Given the description of an element on the screen output the (x, y) to click on. 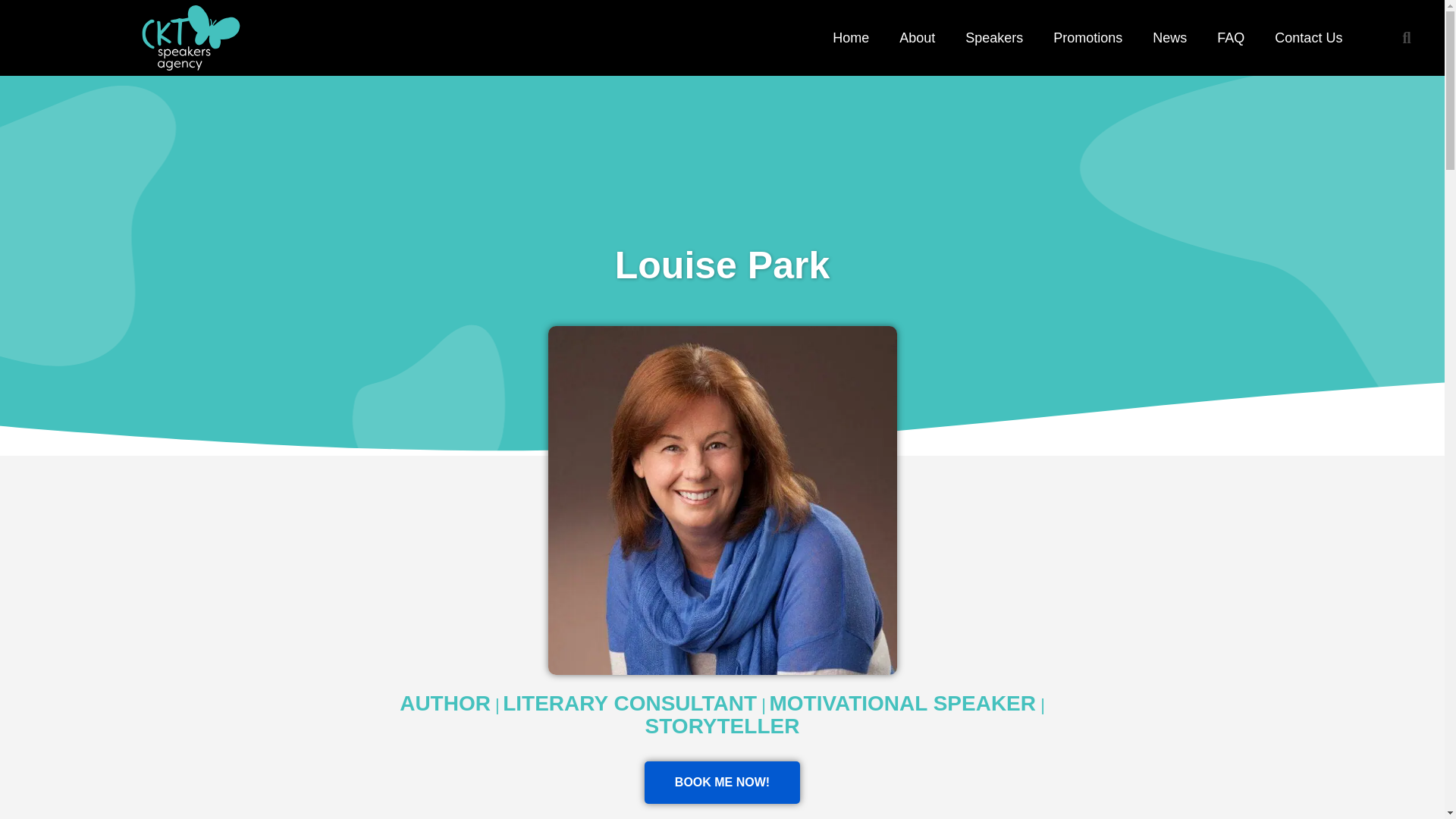
Contact the CKT Speakers Agency (1307, 38)
Speakers (994, 38)
Skip to content (15, 7)
Promotions (1087, 38)
BOOK ME NOW! (722, 782)
Contact Us (1307, 38)
